Given the description of an element on the screen output the (x, y) to click on. 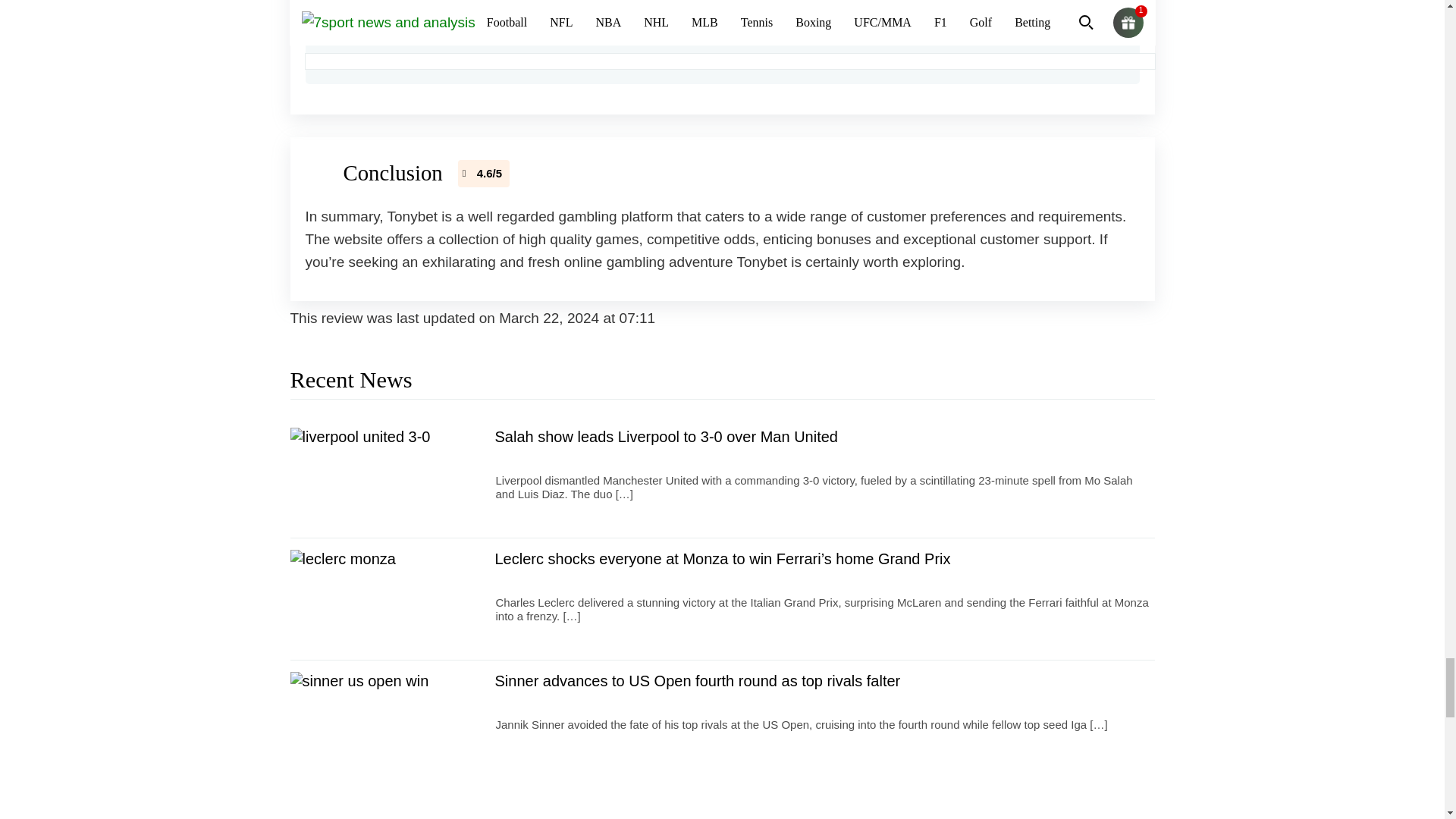
Salah show leads Liverpool to 3-0 over Man United 1 (384, 476)
